Given the description of an element on the screen output the (x, y) to click on. 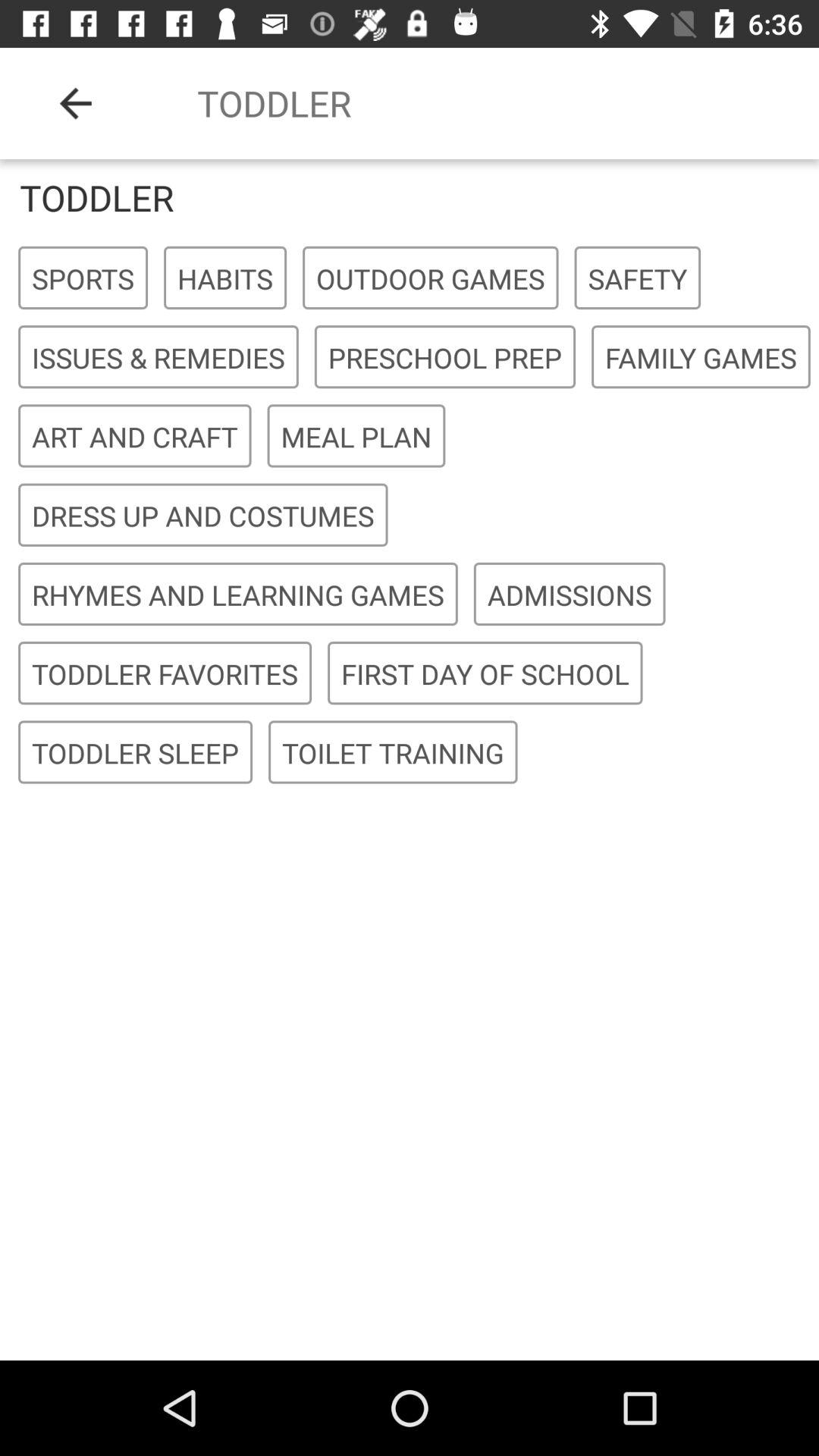
press the item above the toddler favorites item (237, 594)
